Given the description of an element on the screen output the (x, y) to click on. 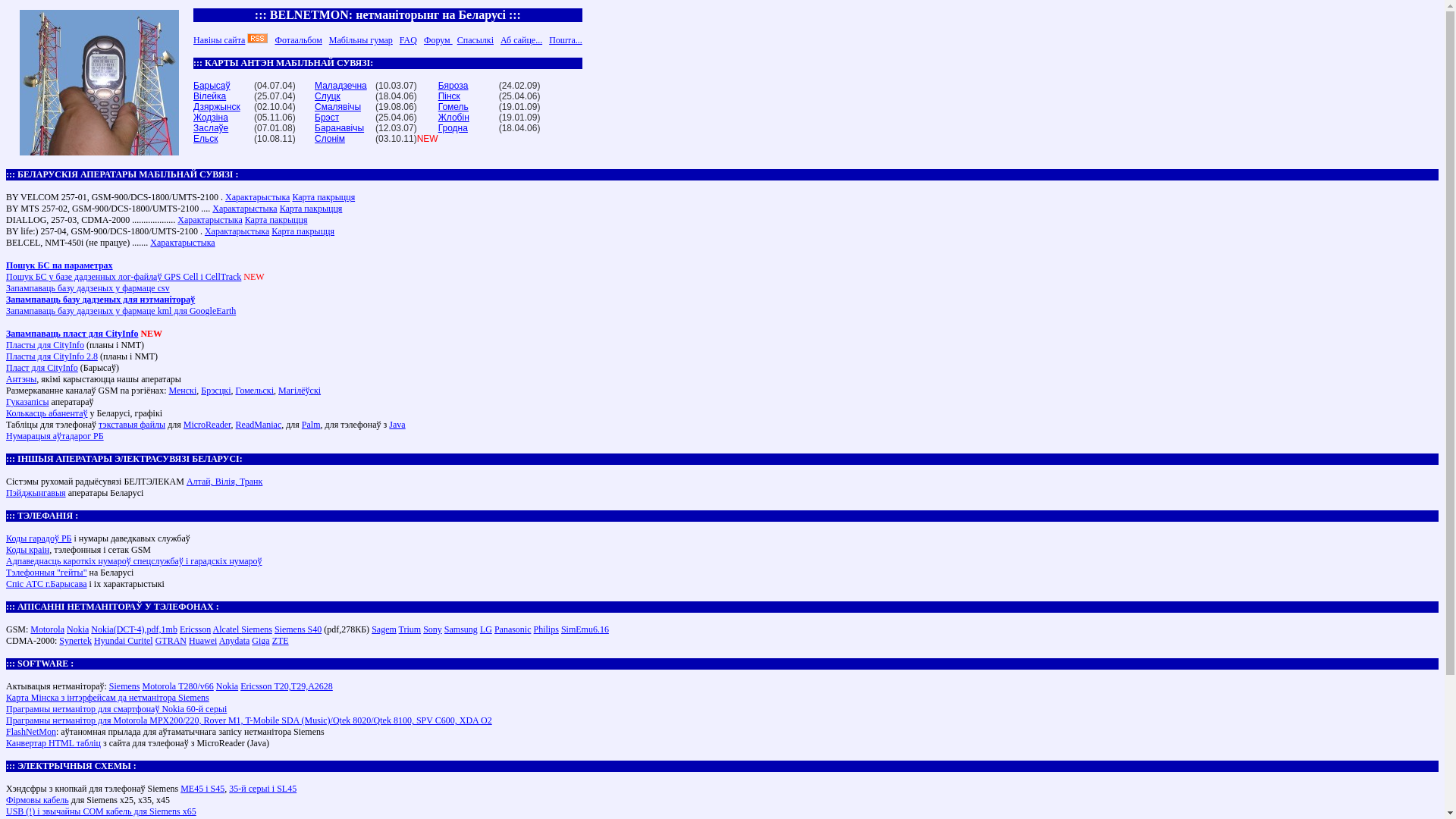
Palm Element type: text (310, 424)
ZTE Element type: text (280, 640)
Siemens Element type: text (256, 629)
FlashNetMon Element type: text (31, 731)
SimEmu6.16 Element type: text (584, 629)
Trium Element type: text (409, 629)
Sony Element type: text (432, 629)
Huawei Element type: text (202, 640)
Motorola Element type: text (47, 629)
Siemens S40 Element type: text (297, 629)
Giga Element type: text (260, 640)
ReadManiac Element type: text (258, 424)
Sagem Element type: text (383, 629)
Ericsson Element type: text (194, 629)
Panasonic Element type: text (512, 629)
Nokia Element type: text (227, 685)
Anydata Element type: text (234, 640)
Philips Element type: text (545, 629)
Samsung Element type: text (460, 629)
Alcatel Element type: text (227, 629)
LG Element type: text (486, 629)
Siemens Element type: text (124, 685)
Nokia(DCT-4),pdf,1mb Element type: text (134, 629)
Java Element type: text (396, 424)
FAQ Element type: text (408, 39)
Nokia Element type: text (77, 629)
Hyundai Curitel Element type: text (123, 640)
Synertek Element type: text (75, 640)
ME45 i S45 Element type: text (202, 788)
MicroReader Element type: text (207, 424)
GTRAN Element type: text (170, 640)
